Given the description of an element on the screen output the (x, y) to click on. 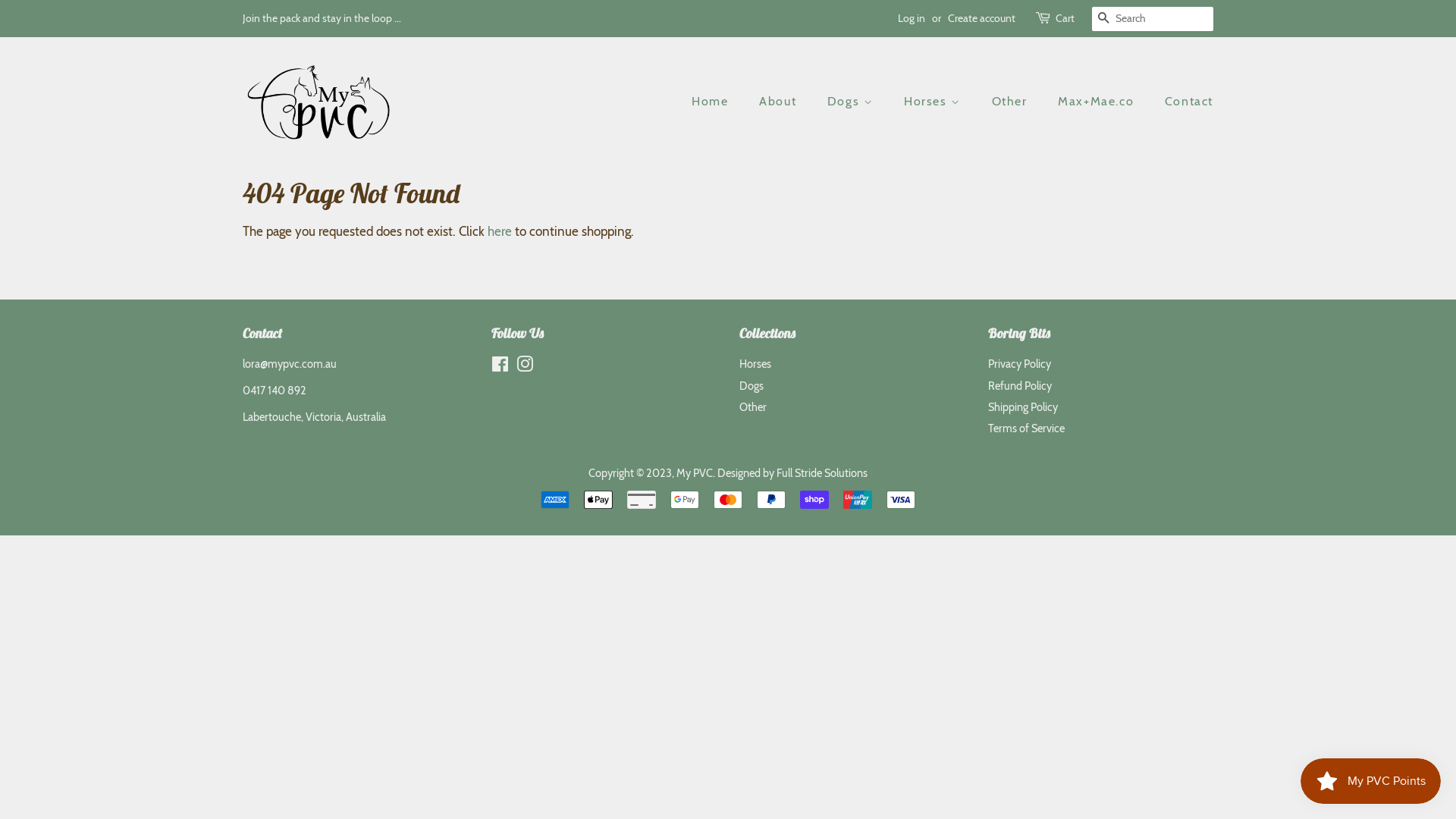
Join the pack and stay in the loop ... Element type: text (321, 18)
Max+Mae.co Element type: text (1097, 100)
Log in Element type: text (911, 18)
Smile.io Rewards Program Launcher Element type: hover (1370, 780)
Contact Element type: text (1183, 100)
Create account Element type: text (981, 18)
Dogs Element type: text (751, 385)
Search Element type: text (1104, 18)
Terms of Service Element type: text (1025, 428)
here Element type: text (499, 230)
About Element type: text (779, 100)
Other Element type: text (752, 407)
Instagram Element type: text (523, 366)
Horses Element type: text (755, 363)
Shipping Policy Element type: text (1022, 407)
Dogs Element type: text (851, 100)
My PVC Element type: text (694, 473)
Horses Element type: text (933, 100)
Full Stride Solutions Element type: text (821, 473)
Other Element type: text (1011, 100)
Refund Policy Element type: text (1019, 385)
Home Element type: text (717, 100)
Cart Element type: text (1064, 18)
Privacy Policy Element type: text (1018, 363)
Facebook Element type: text (499, 366)
